Given the description of an element on the screen output the (x, y) to click on. 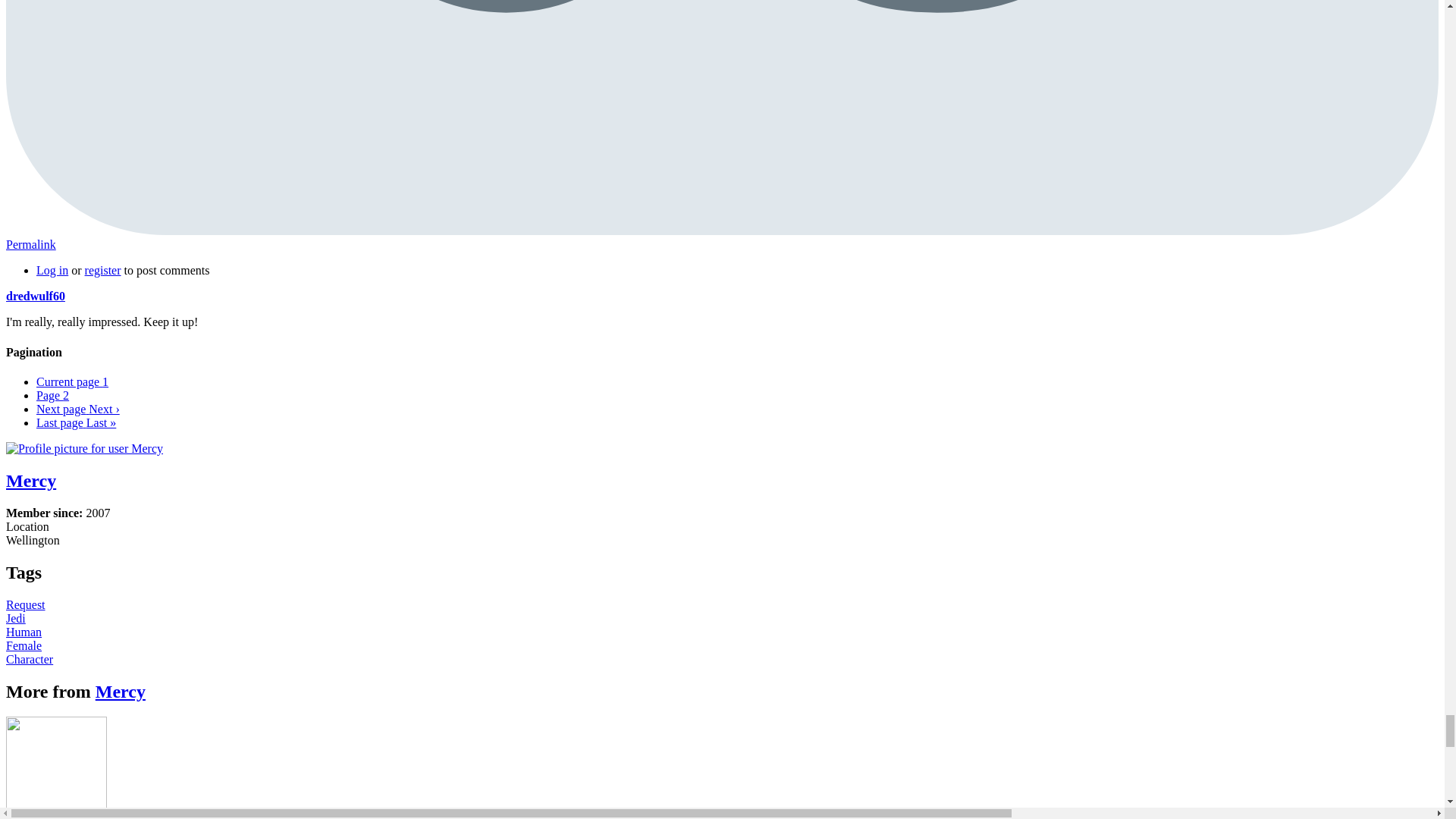
View user profile. (120, 690)
Go to page 2 (52, 395)
Go to last page (71, 381)
View user profile. (76, 422)
Go to next page (35, 295)
